Given the description of an element on the screen output the (x, y) to click on. 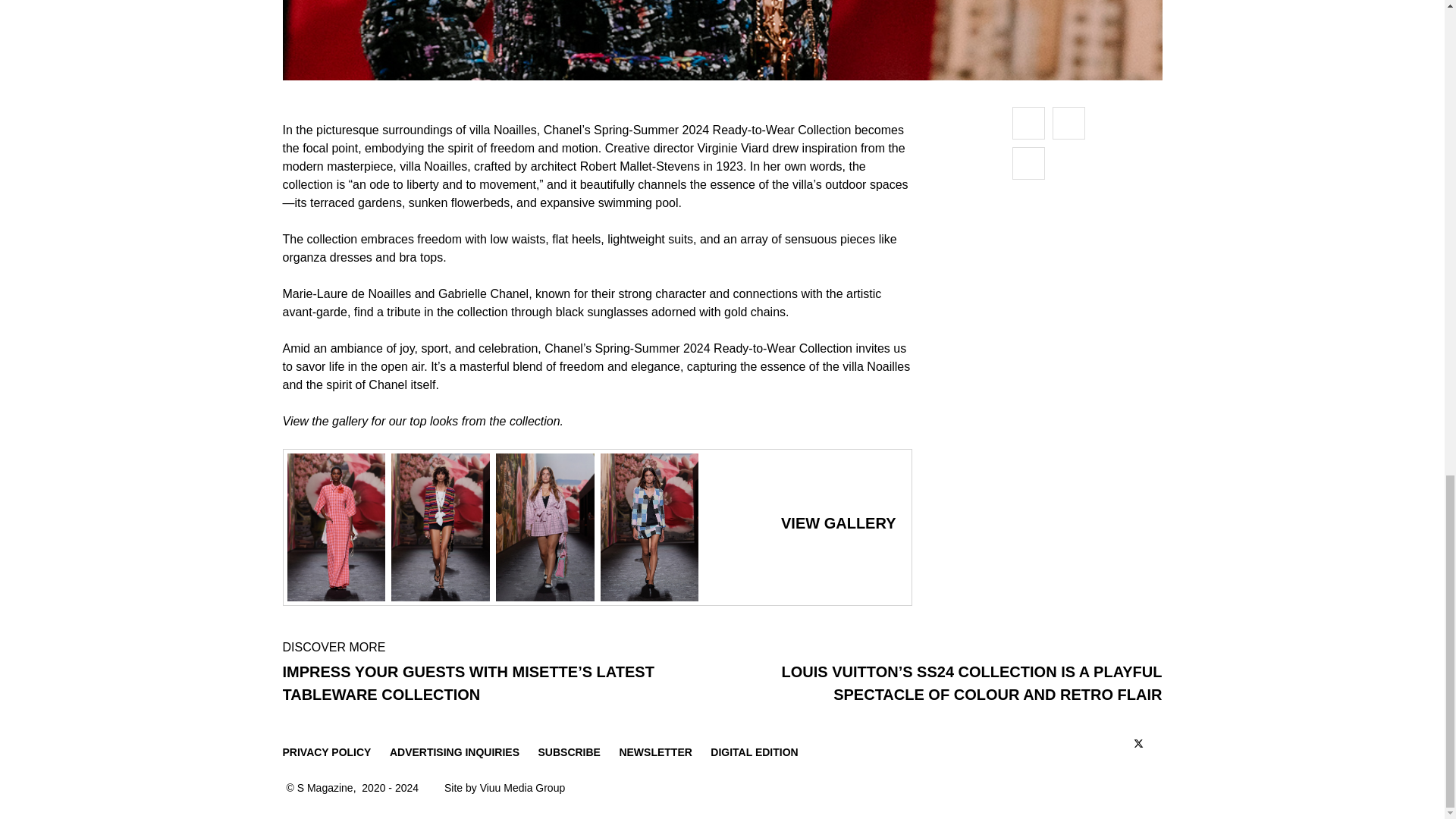
PRIVACY POLICY (326, 752)
Virginie Viard (732, 147)
